Given the description of an element on the screen output the (x, y) to click on. 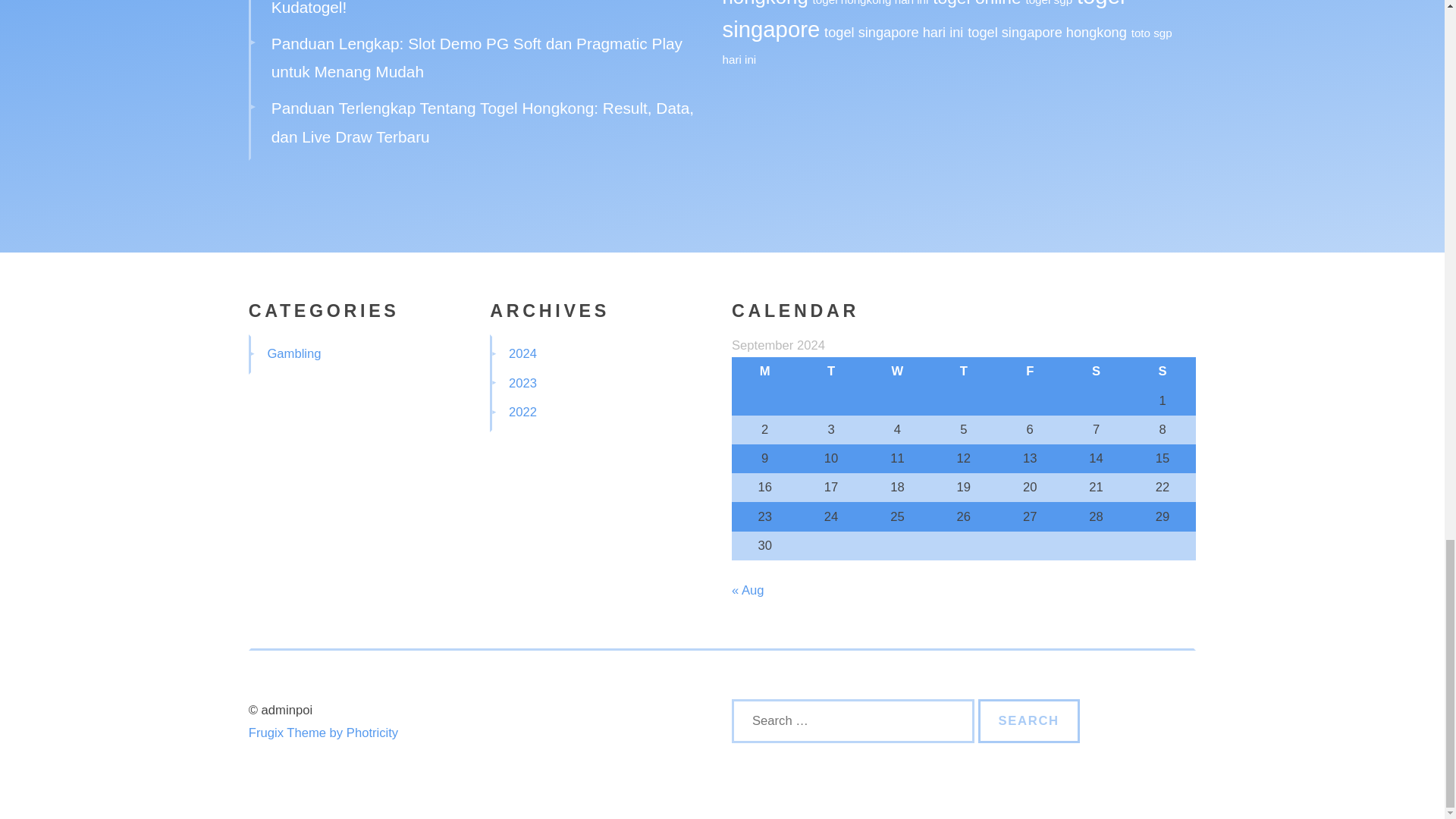
Saturday (1095, 371)
Thursday (962, 371)
Tuesday (830, 371)
Wednesday (897, 371)
Monday (764, 371)
Search (1029, 720)
Search (1029, 720)
Sunday (1162, 371)
